Given the description of an element on the screen output the (x, y) to click on. 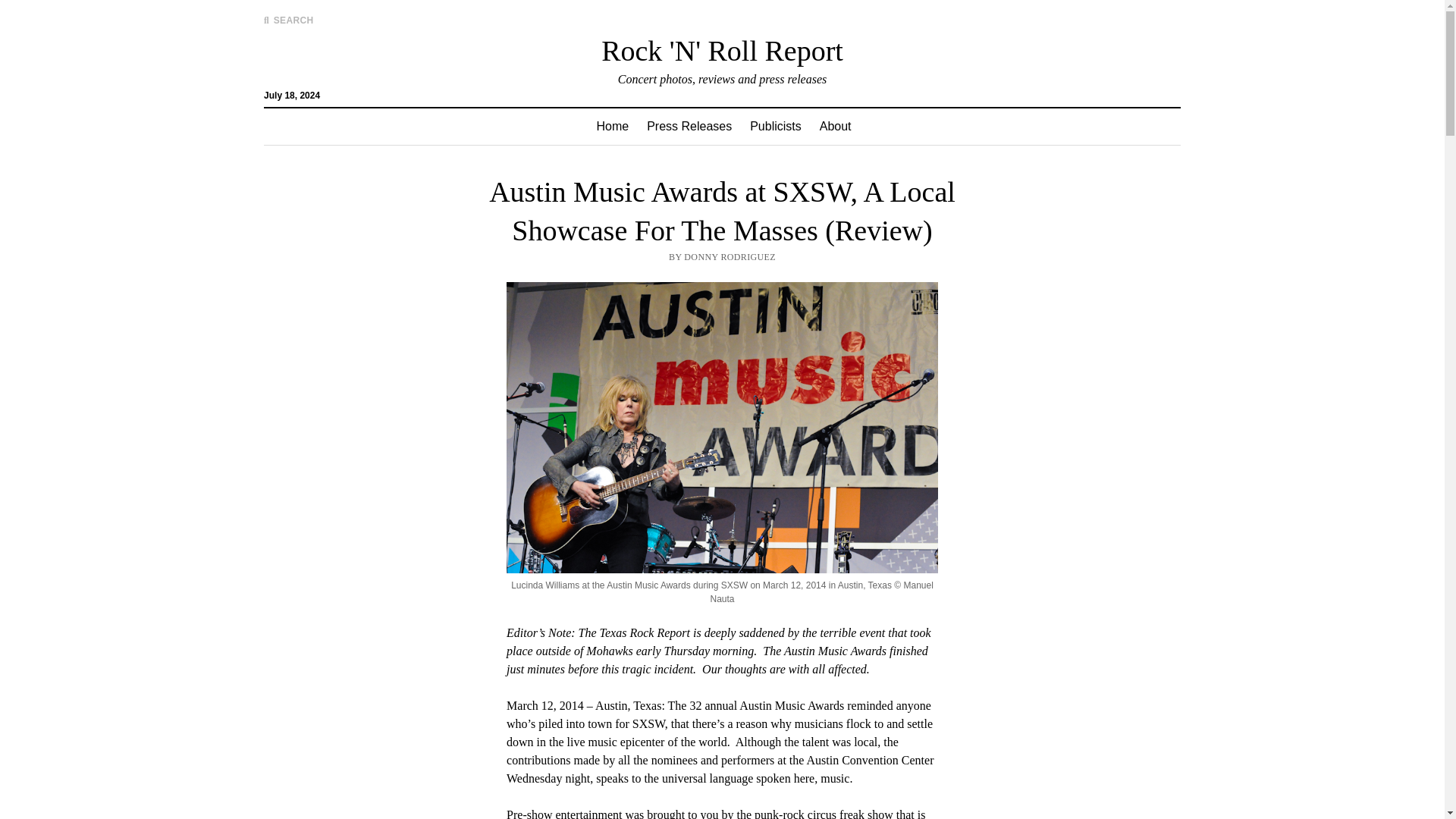
Press Releases (689, 126)
Search (945, 129)
Rock 'N' Roll Report (722, 50)
Home (611, 126)
About (835, 126)
SEARCH (288, 20)
Publicists (775, 126)
